Given the description of an element on the screen output the (x, y) to click on. 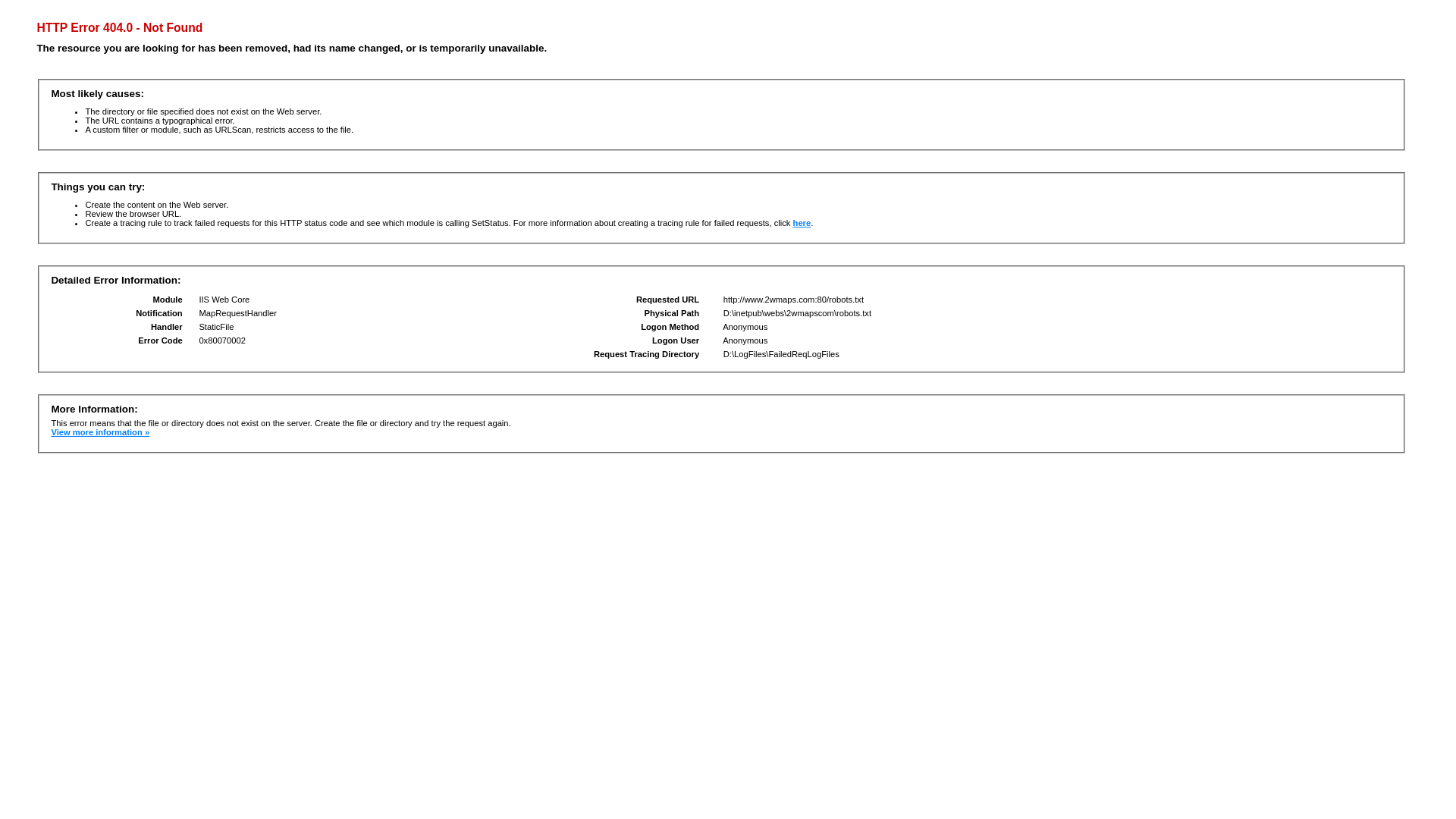
here Element type: text (802, 222)
